Given the description of an element on the screen output the (x, y) to click on. 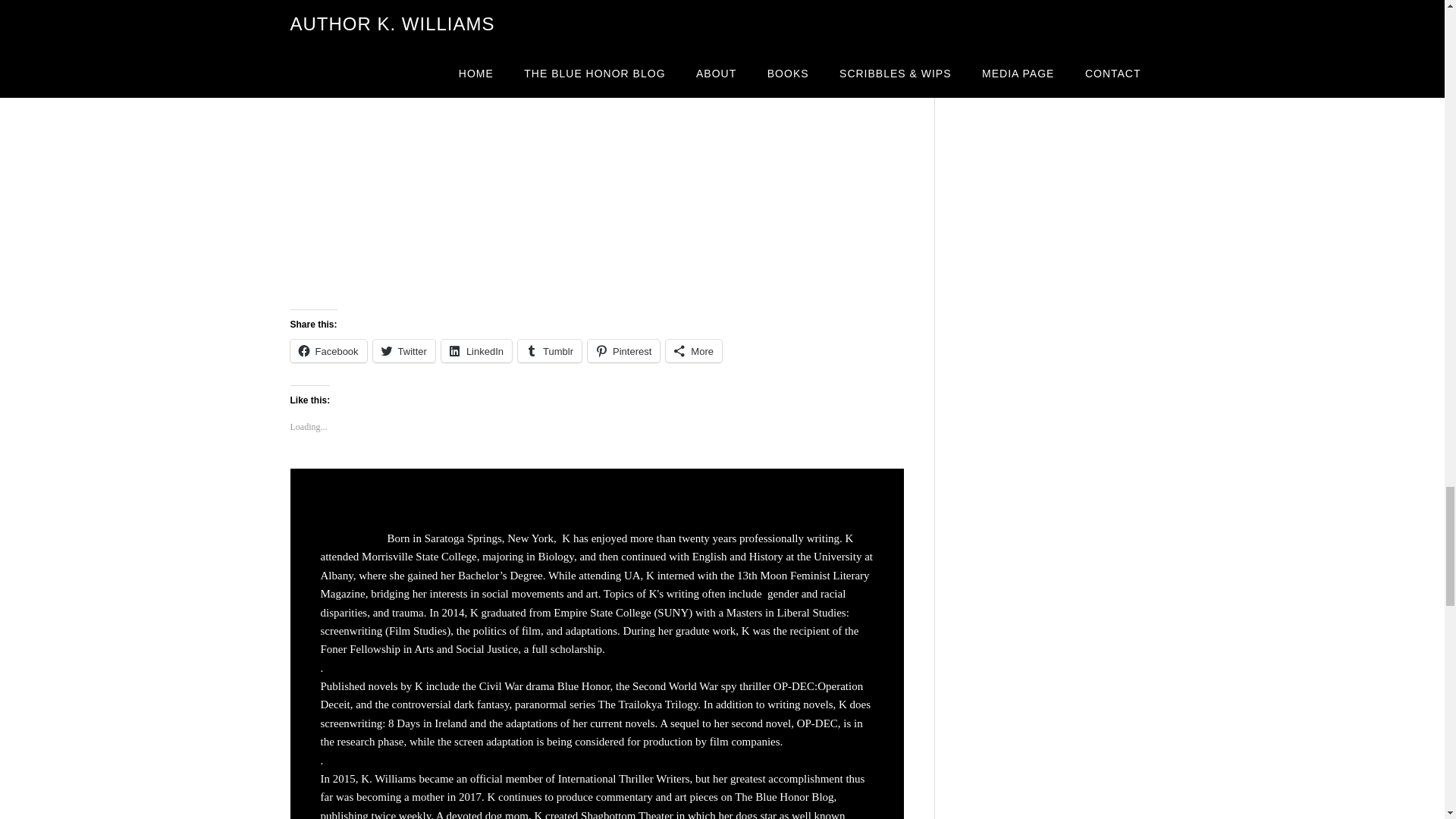
Click to share on Twitter (403, 350)
Click to share on Tumblr (549, 350)
Click to share on Facebook (327, 350)
Click to share on LinkedIn (476, 350)
Click to share on Pinterest (623, 350)
